Given the description of an element on the screen output the (x, y) to click on. 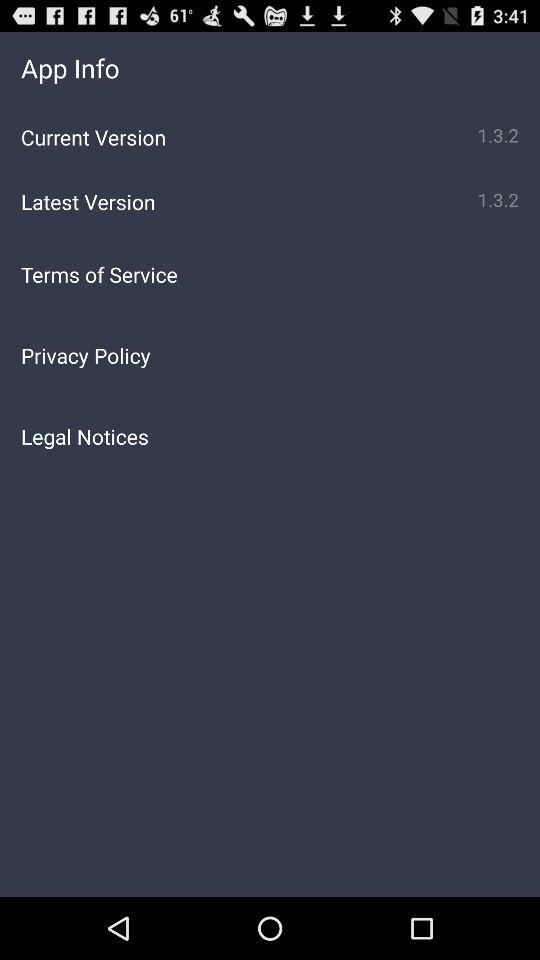
swipe until legal notices app (270, 435)
